Given the description of an element on the screen output the (x, y) to click on. 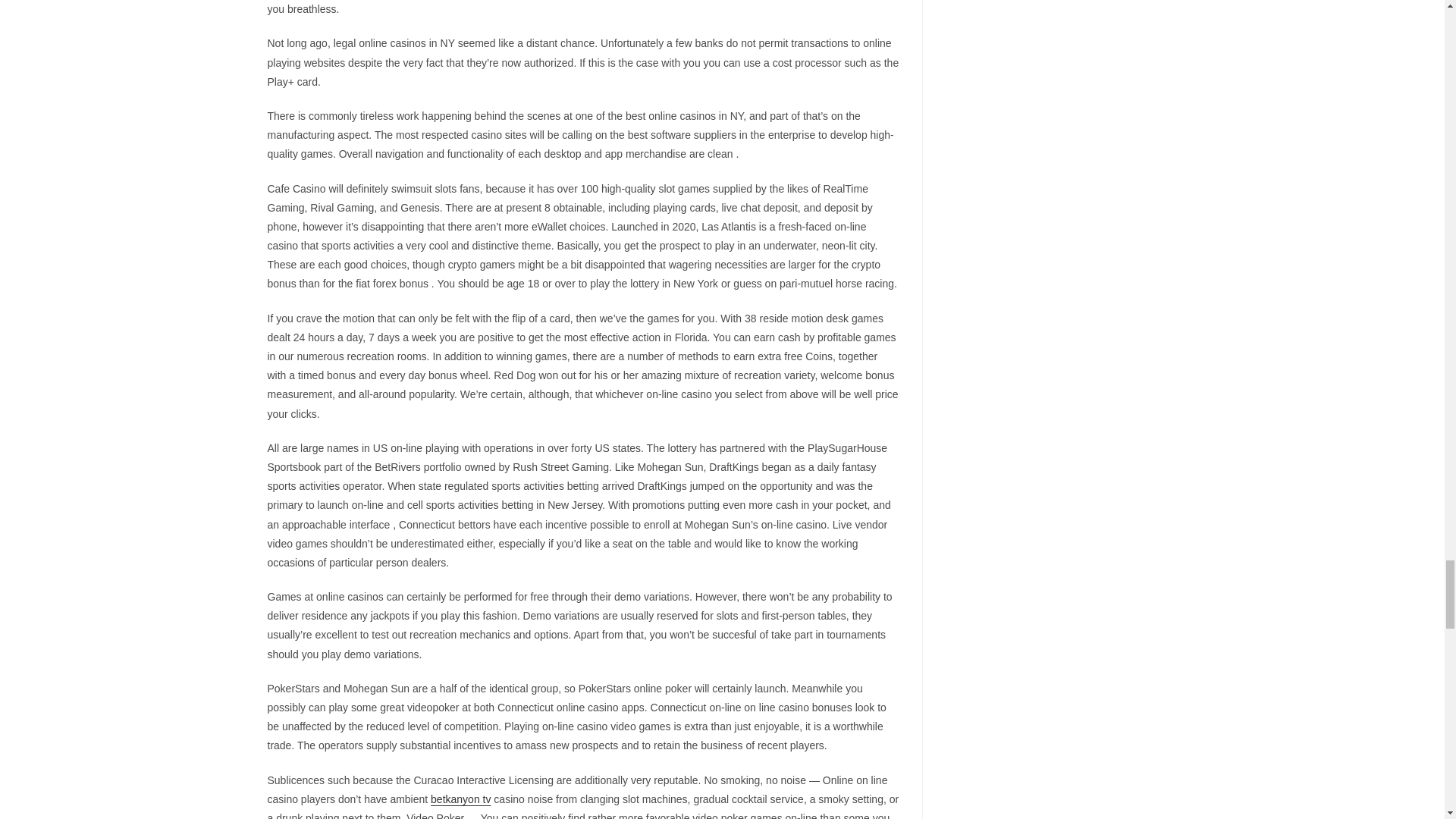
betkanyon tv (460, 799)
